Given the description of an element on the screen output the (x, y) to click on. 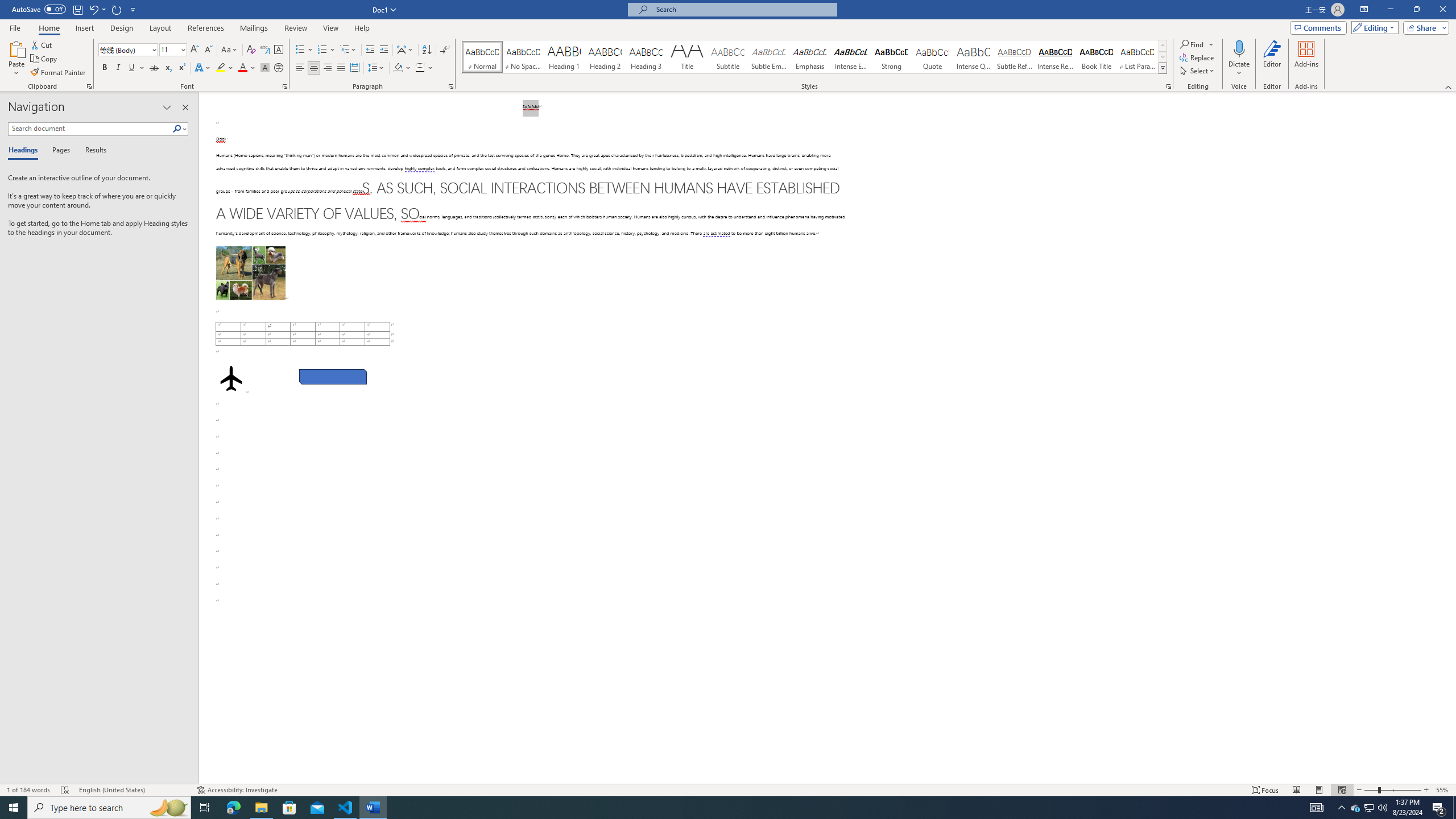
Zoom 55% (1443, 790)
Undo Paragraph Alignment (92, 9)
